Given the description of an element on the screen output the (x, y) to click on. 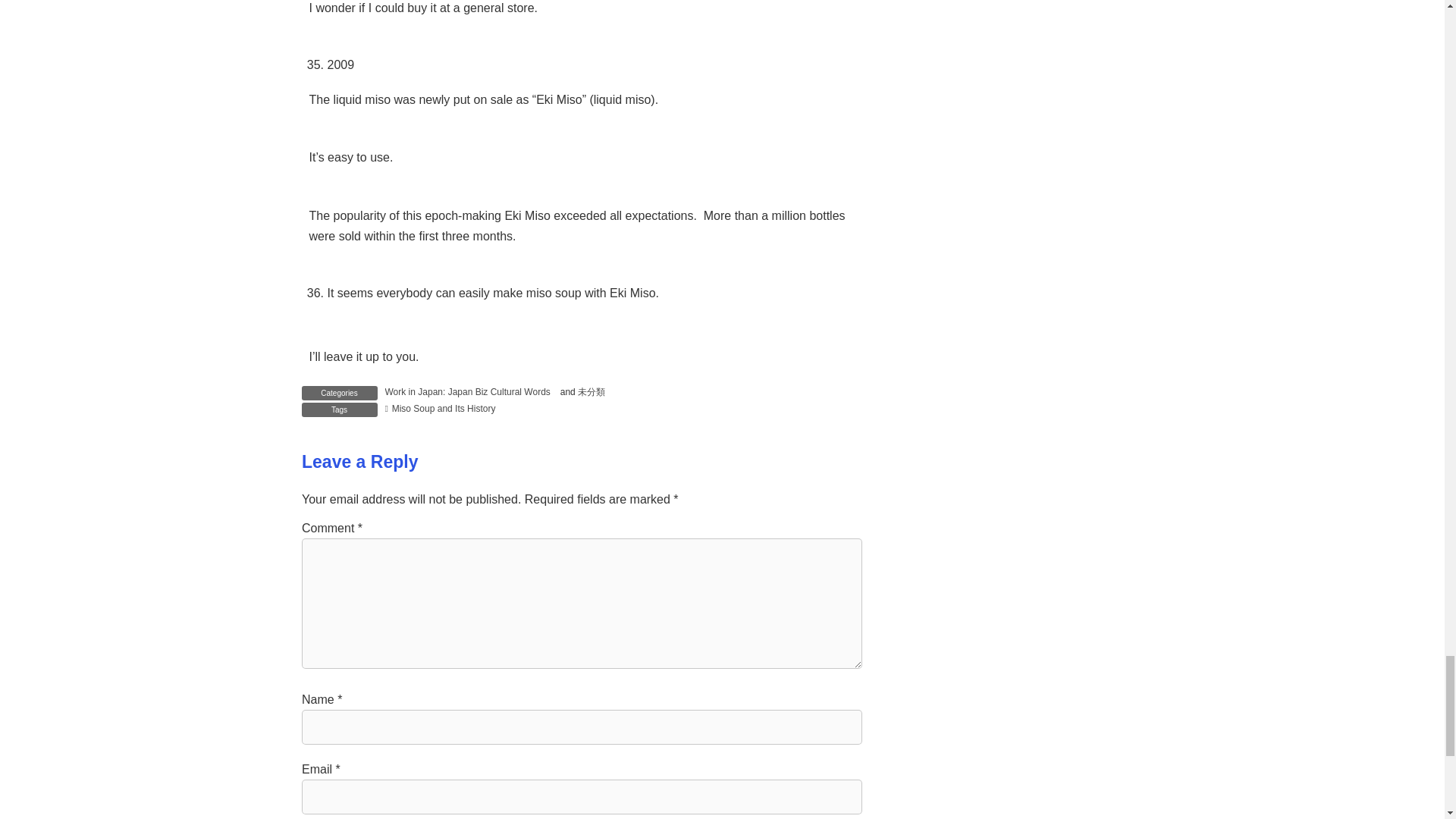
Work in Japan: Japan Biz Cultural Words (467, 392)
Miso Soup and Its History (440, 408)
